Given the description of an element on the screen output the (x, y) to click on. 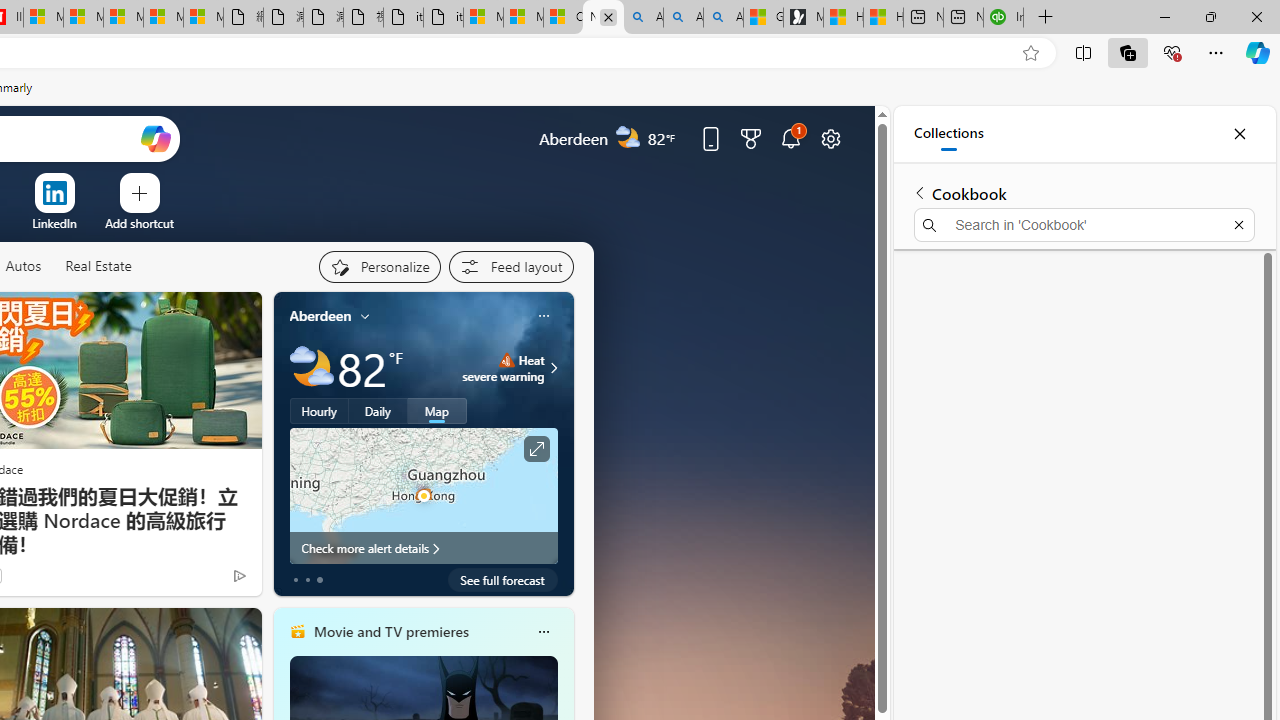
Alabama high school quarterback dies - Search (643, 17)
Check more alert details (423, 547)
itconcepthk.com/projector_solutions.mp4 (443, 17)
Partly cloudy (311, 368)
How to Use a TV as a Computer Monitor (883, 17)
Click to see more information (536, 449)
